Given the description of an element on the screen output the (x, y) to click on. 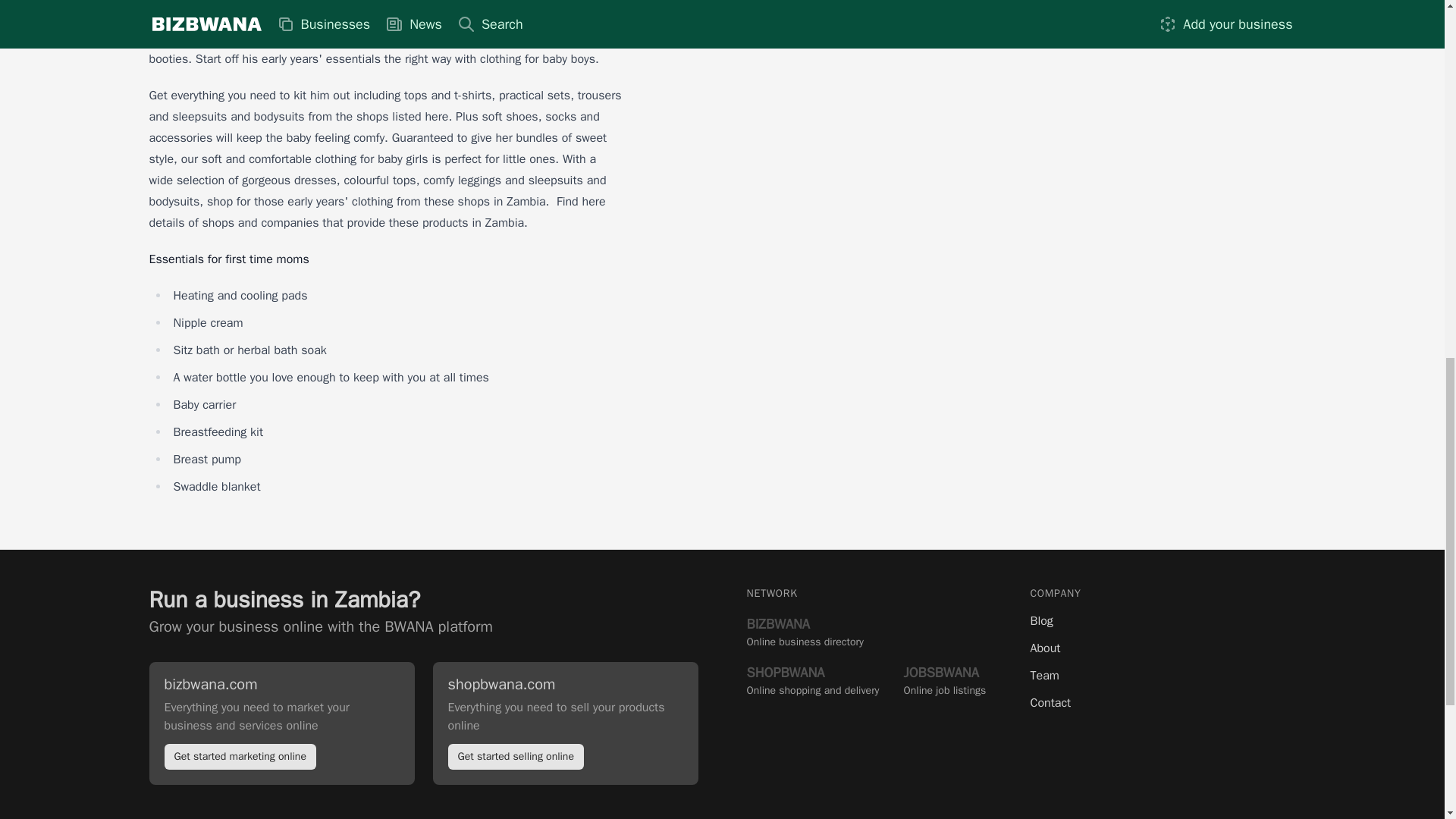
About (1162, 648)
Get started selling online (514, 756)
Team (1162, 675)
Grow your business online with the BWANA platform (812, 679)
Get started marketing online (320, 626)
Contact (239, 756)
Blog (1162, 702)
